Given the description of an element on the screen output the (x, y) to click on. 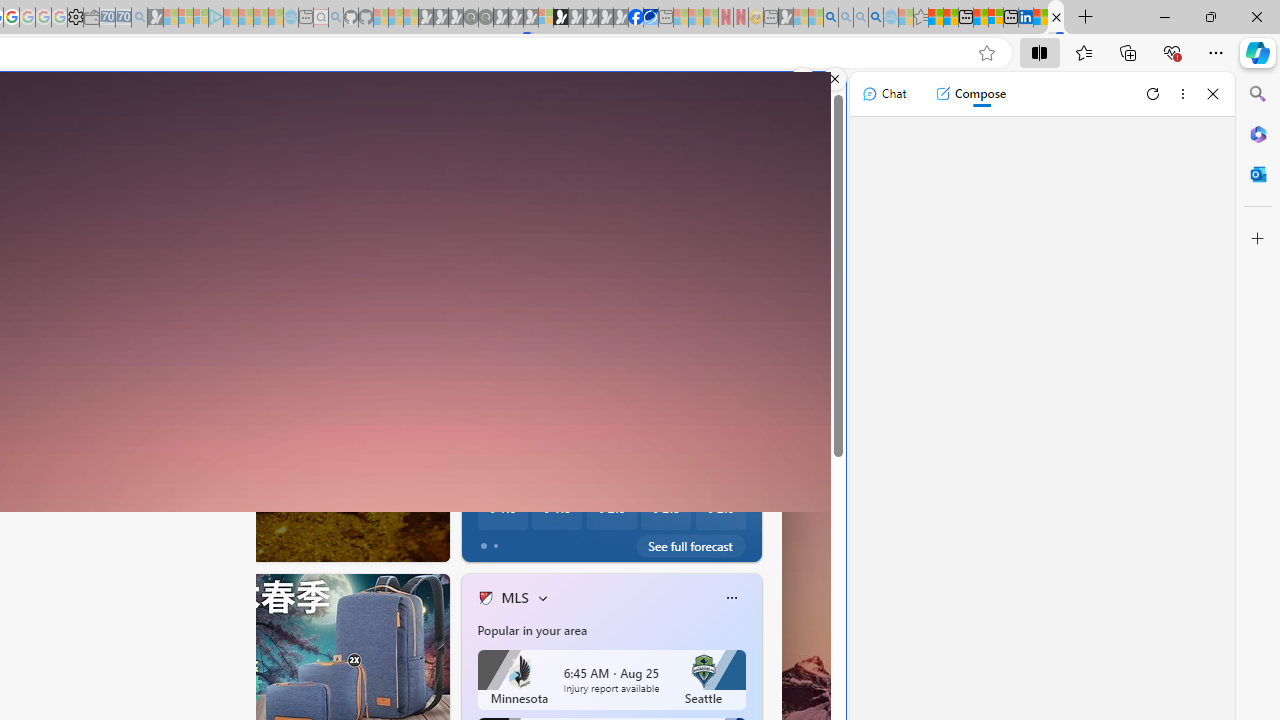
69 Like (487, 541)
15 Times Snakes Messed With The Wrong Opponent (758, 506)
Lifewire (477, 473)
View comments 14 Comment (577, 541)
Daily (566, 377)
152 Like (490, 541)
